Given the description of an element on the screen output the (x, y) to click on. 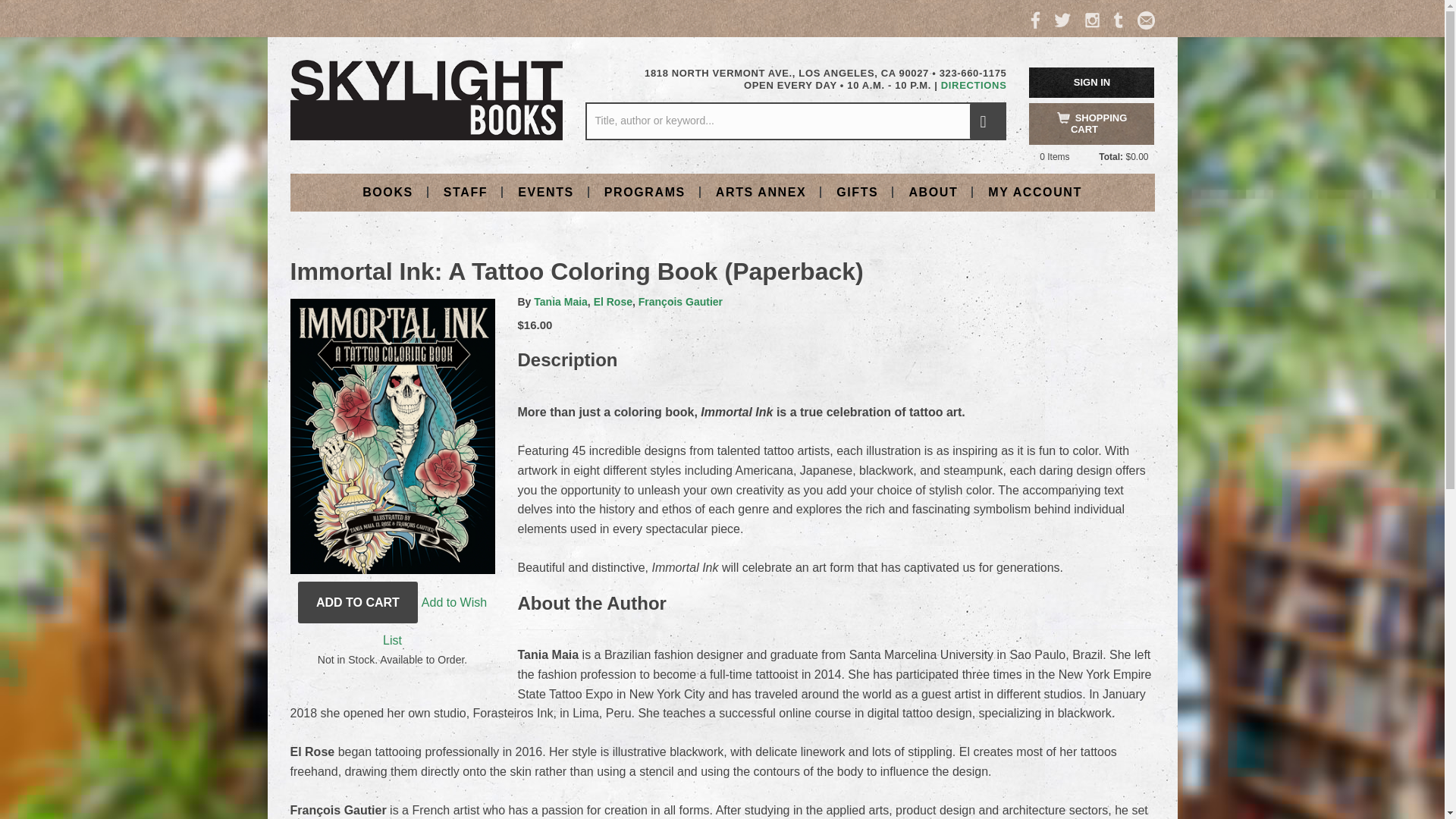
SHOPPING CART (1091, 123)
BOOKS (387, 191)
GIFTS (857, 191)
EVENTS (545, 191)
DIRECTIONS (973, 84)
search (987, 121)
Home (425, 98)
PROGRAMS (644, 191)
search (987, 121)
